Given the description of an element on the screen output the (x, y) to click on. 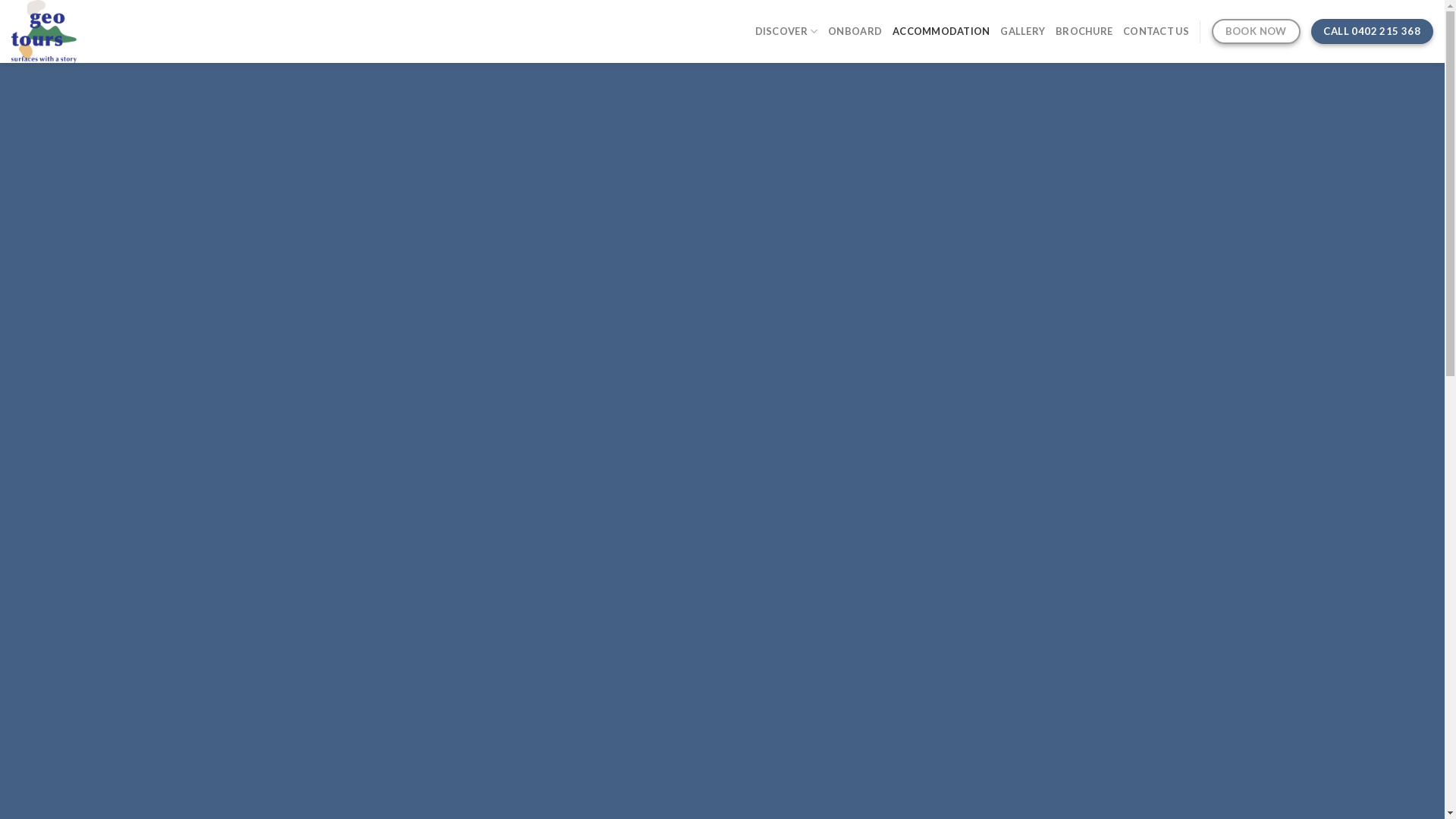
ACCOMMODATION Element type: text (940, 30)
BOOK NOW Element type: text (1255, 30)
DISCOVER Element type: text (786, 30)
CONTACT US Element type: text (1156, 30)
ONBOARD Element type: text (854, 30)
BROCHURE Element type: text (1083, 30)
GALLERY Element type: text (1022, 30)
CALL 0402 215 368 Element type: text (1372, 31)
